Given the description of an element on the screen output the (x, y) to click on. 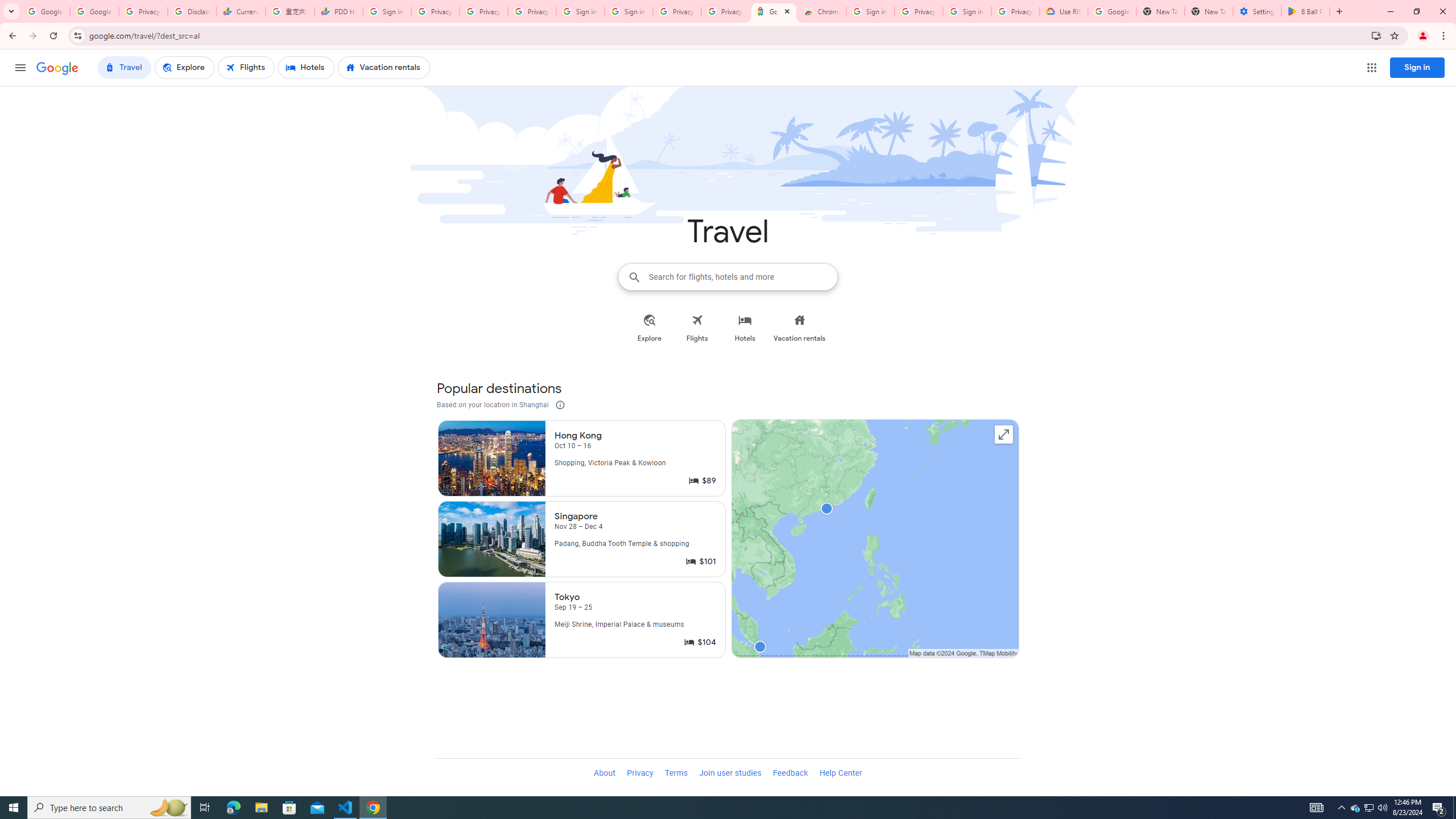
Chrome Web Store - Color themes by Chrome (822, 11)
Install Trips all in one place (1376, 35)
Feedback (790, 773)
Google (773, 11)
Explore (650, 328)
